Given the description of an element on the screen output the (x, y) to click on. 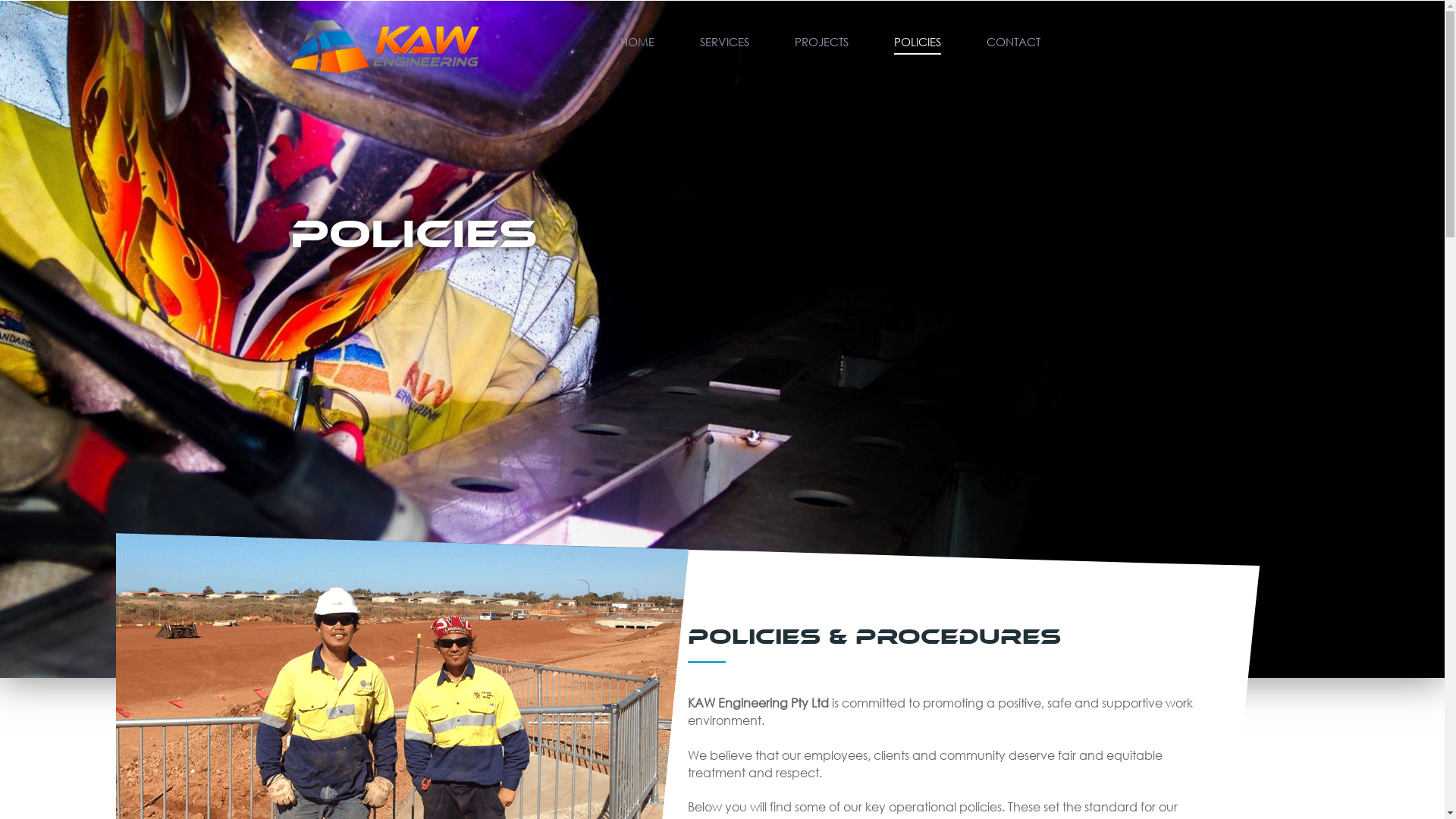
CONTACT Element type: text (1012, 40)
PROJECTS Element type: text (821, 40)
POLICIES Element type: text (916, 40)
SERVICES Element type: text (723, 40)
HOME Element type: text (637, 40)
